Given the description of an element on the screen output the (x, y) to click on. 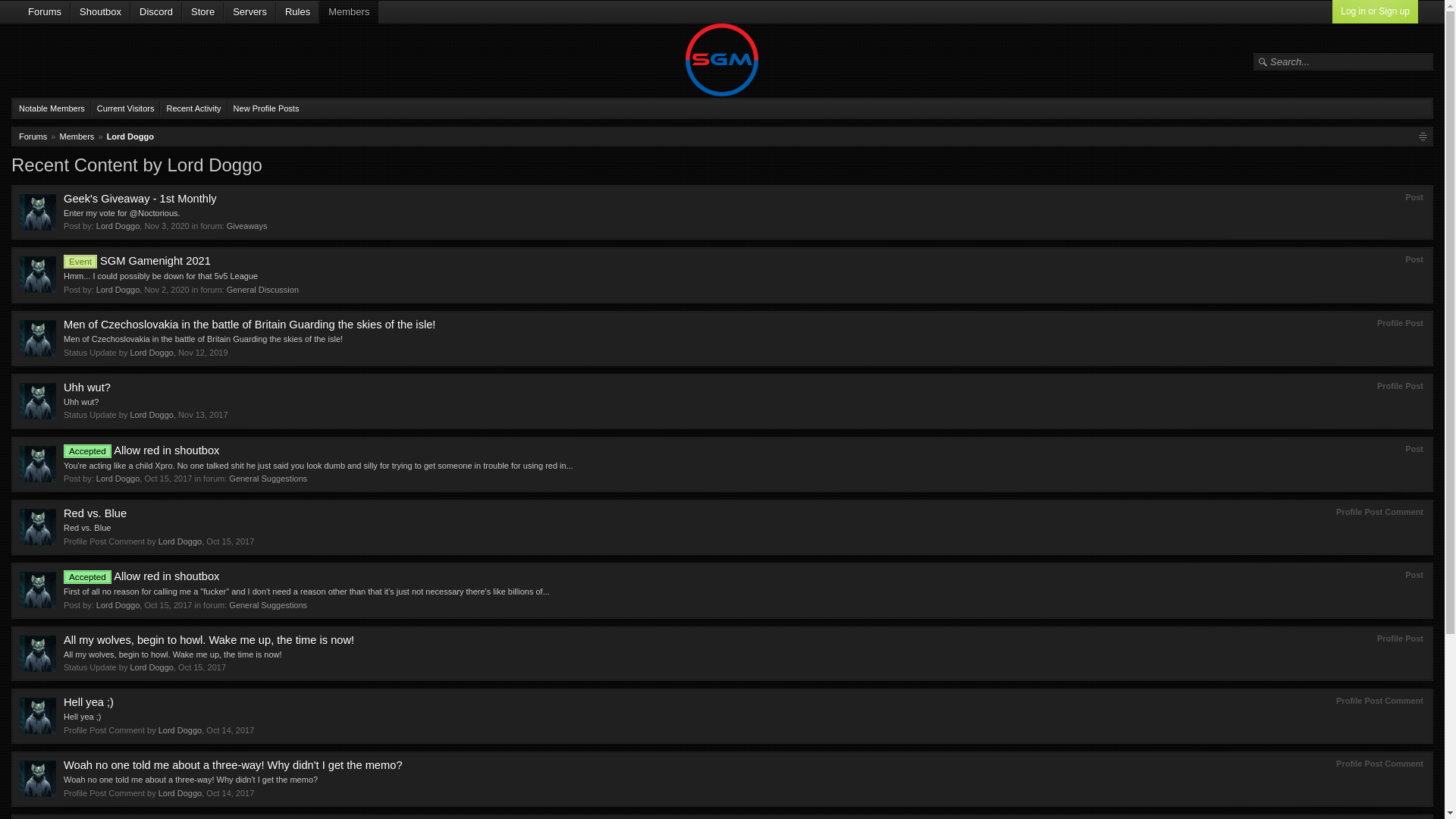
Notable Members (51, 108)
Lord Doggo (117, 225)
Geek's Giveaway - 1st Monthly (140, 198)
Oct 14, 2017 at 9:21 PM (229, 792)
Members (76, 135)
Oct 15, 2017 at 11:21 PM (168, 478)
Oct 14, 2017 at 9:32 PM (229, 729)
Log in or Sign up (1375, 11)
Event SGM Gamenight 2021 (137, 260)
Nov 12, 2019 at 12:24 PM (202, 352)
